Given the description of an element on the screen output the (x, y) to click on. 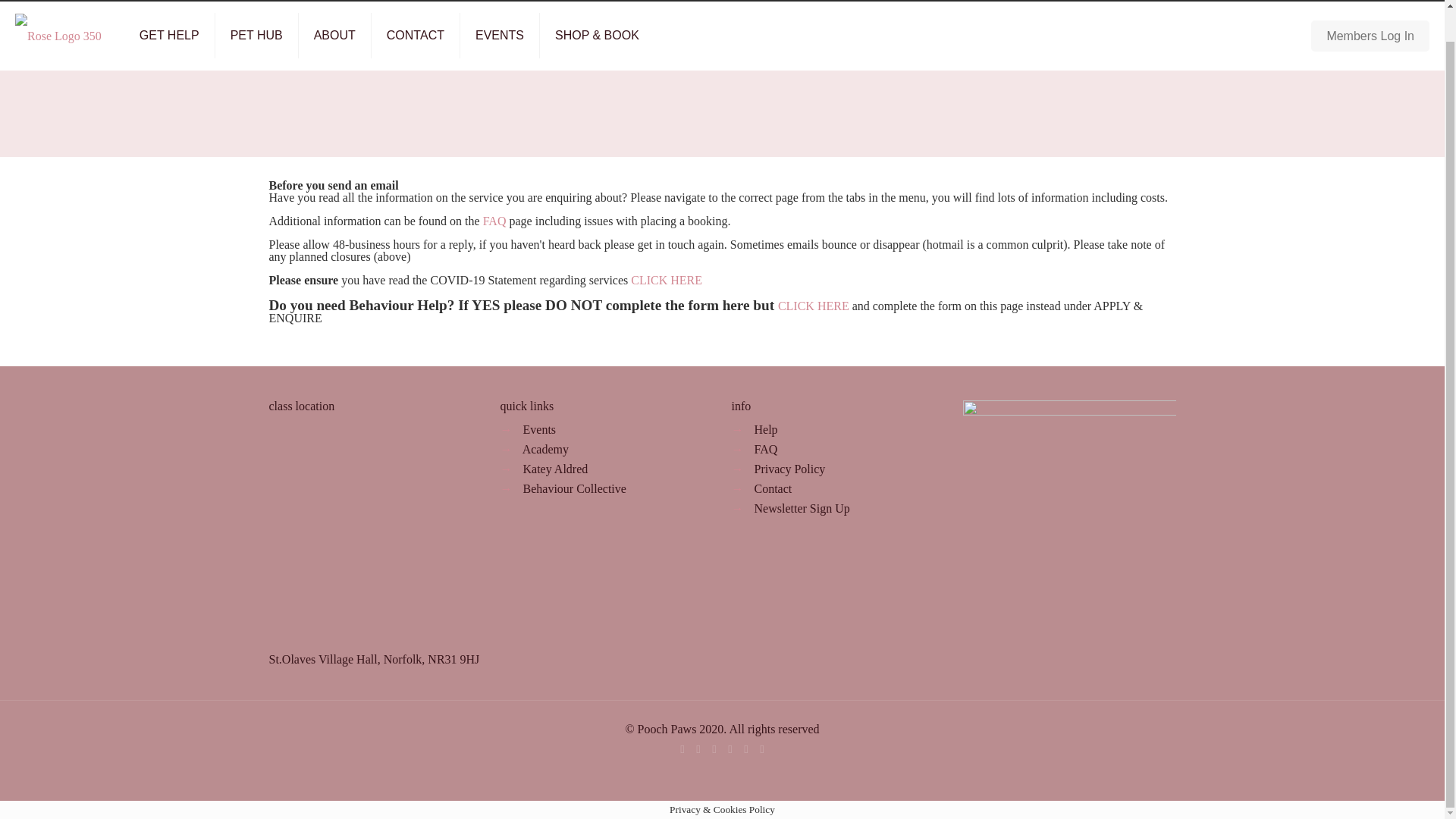
Facebook (698, 748)
PET HUB (256, 35)
CONTACT (415, 35)
Pooch Paws (57, 35)
WhatsApp (682, 748)
Instagram (745, 748)
YouTube (730, 748)
Katey Aldred (762, 748)
GET HELP (169, 35)
ABOUT (334, 35)
